Given the description of an element on the screen output the (x, y) to click on. 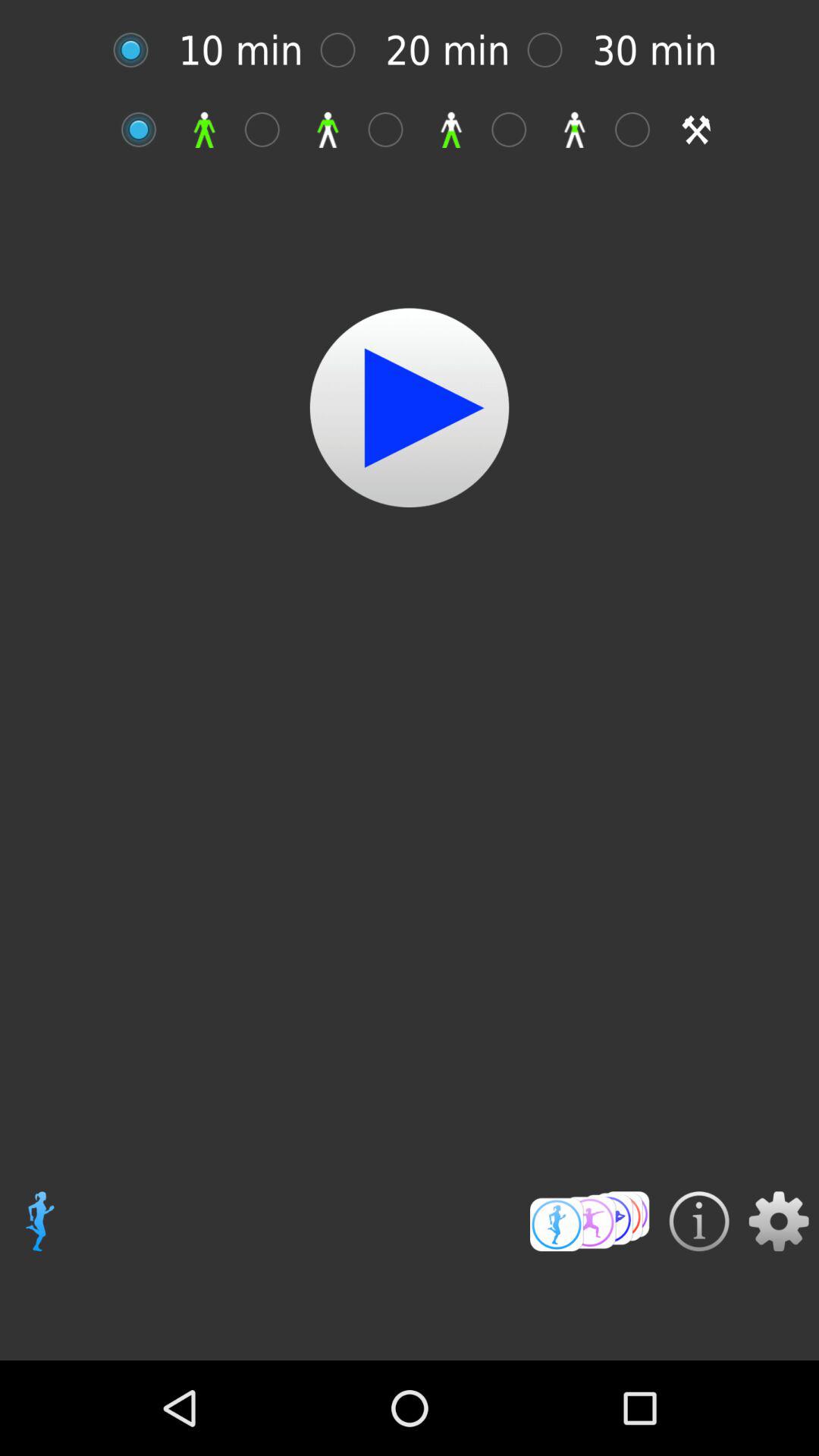
start video (146, 129)
